Given the description of an element on the screen output the (x, y) to click on. 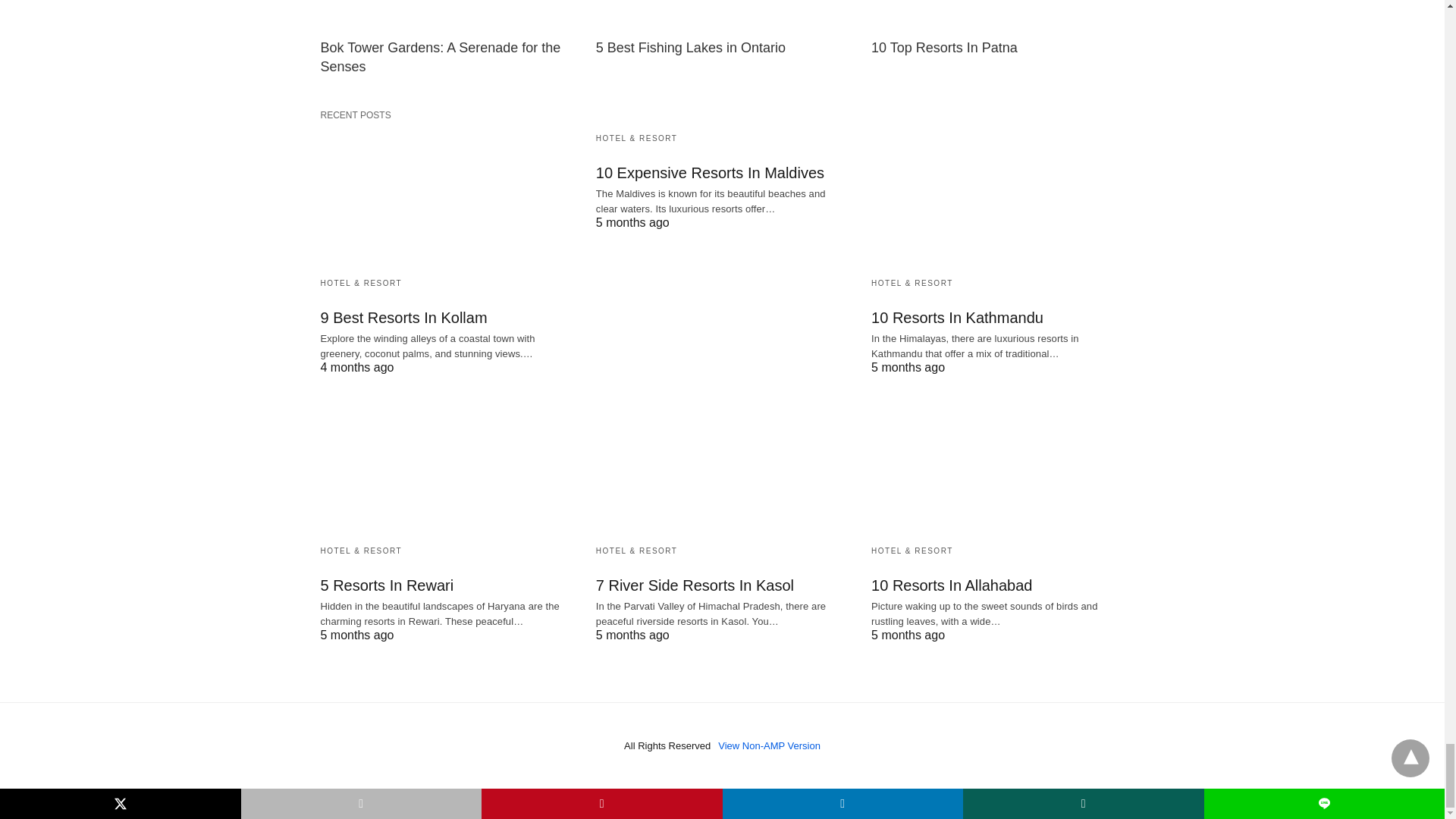
5 Best Fishing Lakes in Ontario (690, 47)
Bok Tower Gardens: A Serenade for the Senses (440, 57)
Bok Tower Gardens: A Serenade for the Senses (446, 15)
10 Top Resorts In Patna (943, 47)
